Given the description of an element on the screen output the (x, y) to click on. 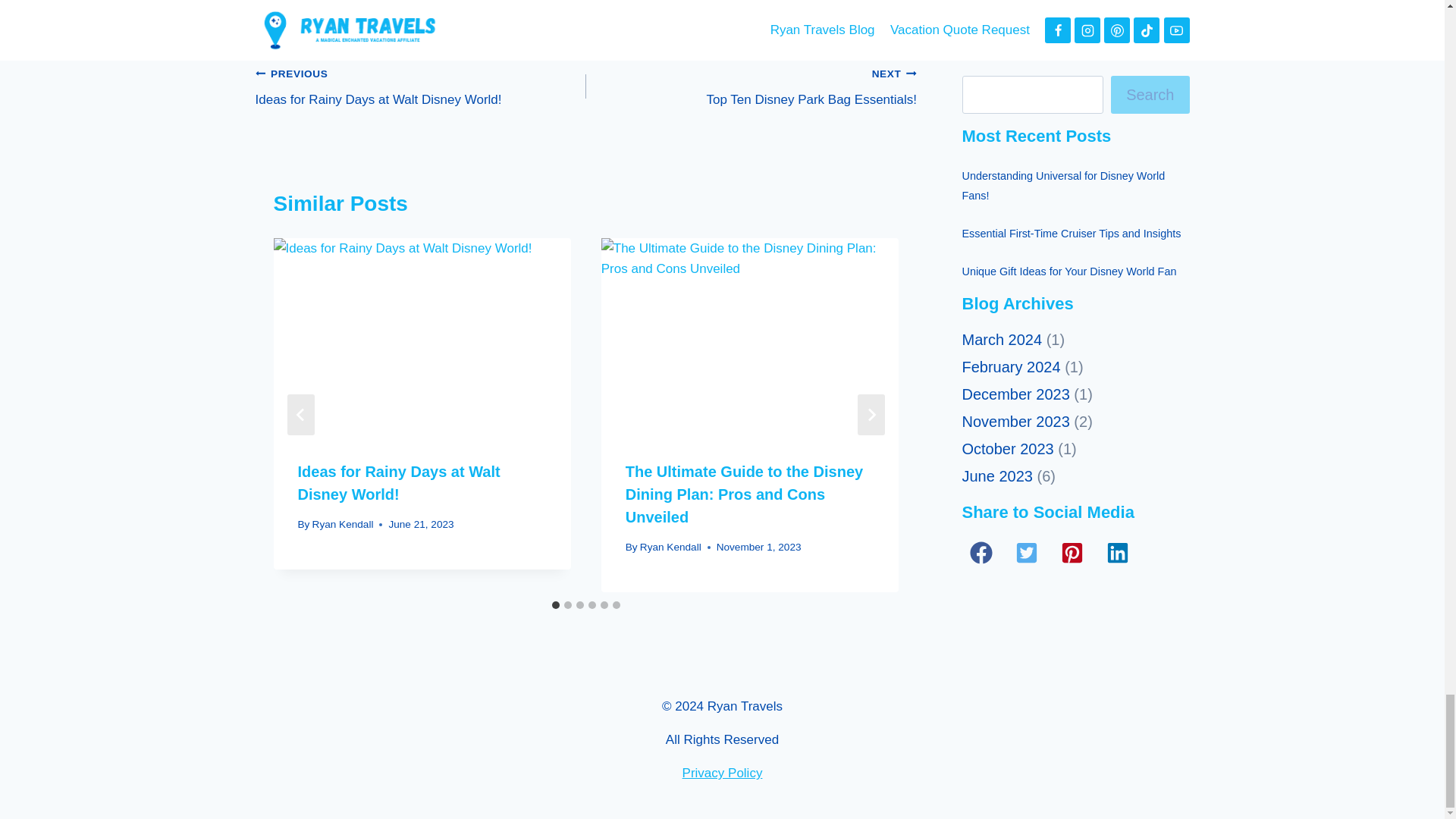
EPCOT (419, 86)
Attractions (480, 3)
Magic Kingdom (412, 3)
Hollywood Studios (668, 3)
Animal Kingdom (565, 3)
